Given the description of an element on the screen output the (x, y) to click on. 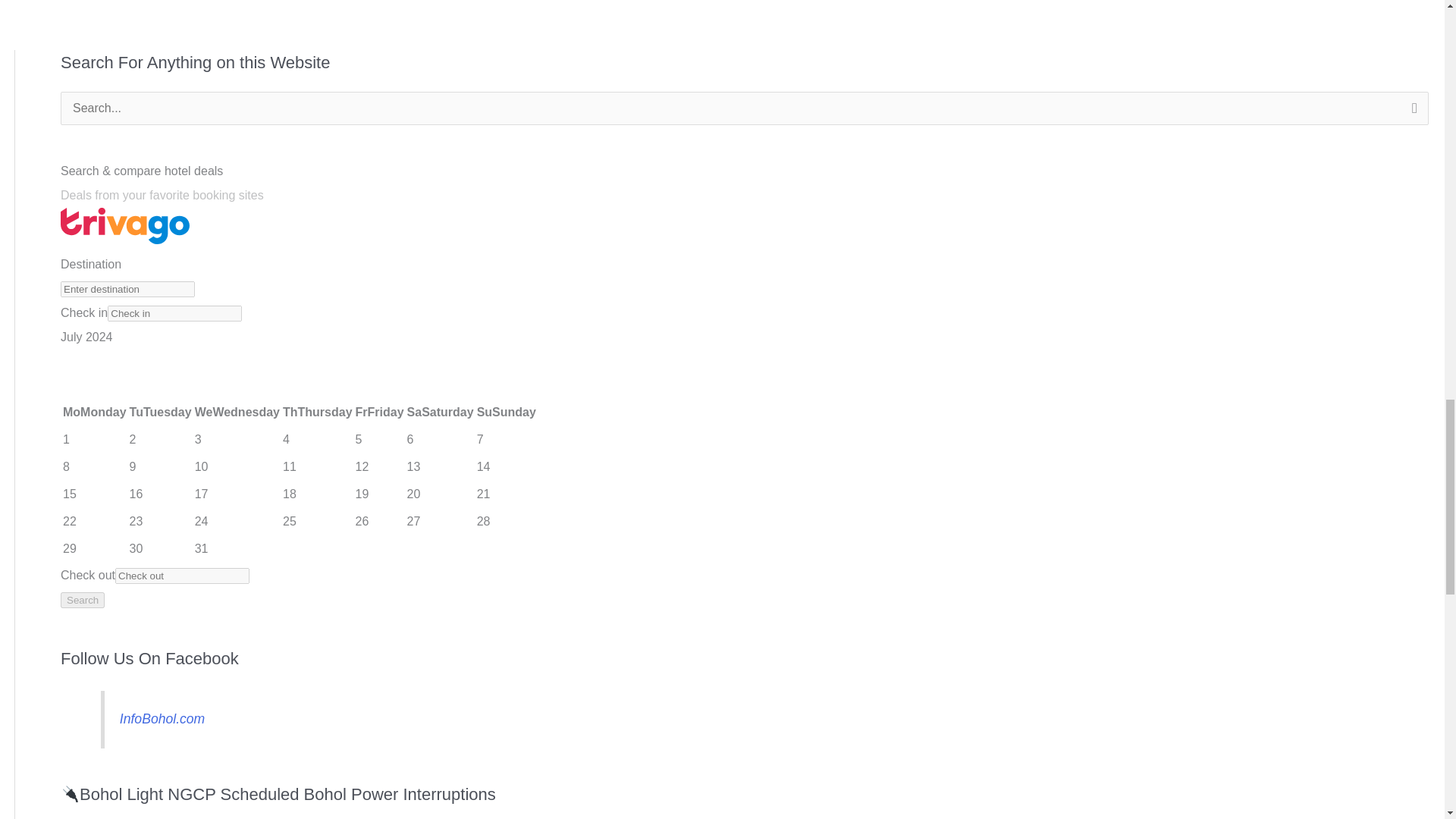
Search (1411, 112)
Search (1411, 112)
